Given the description of an element on the screen output the (x, y) to click on. 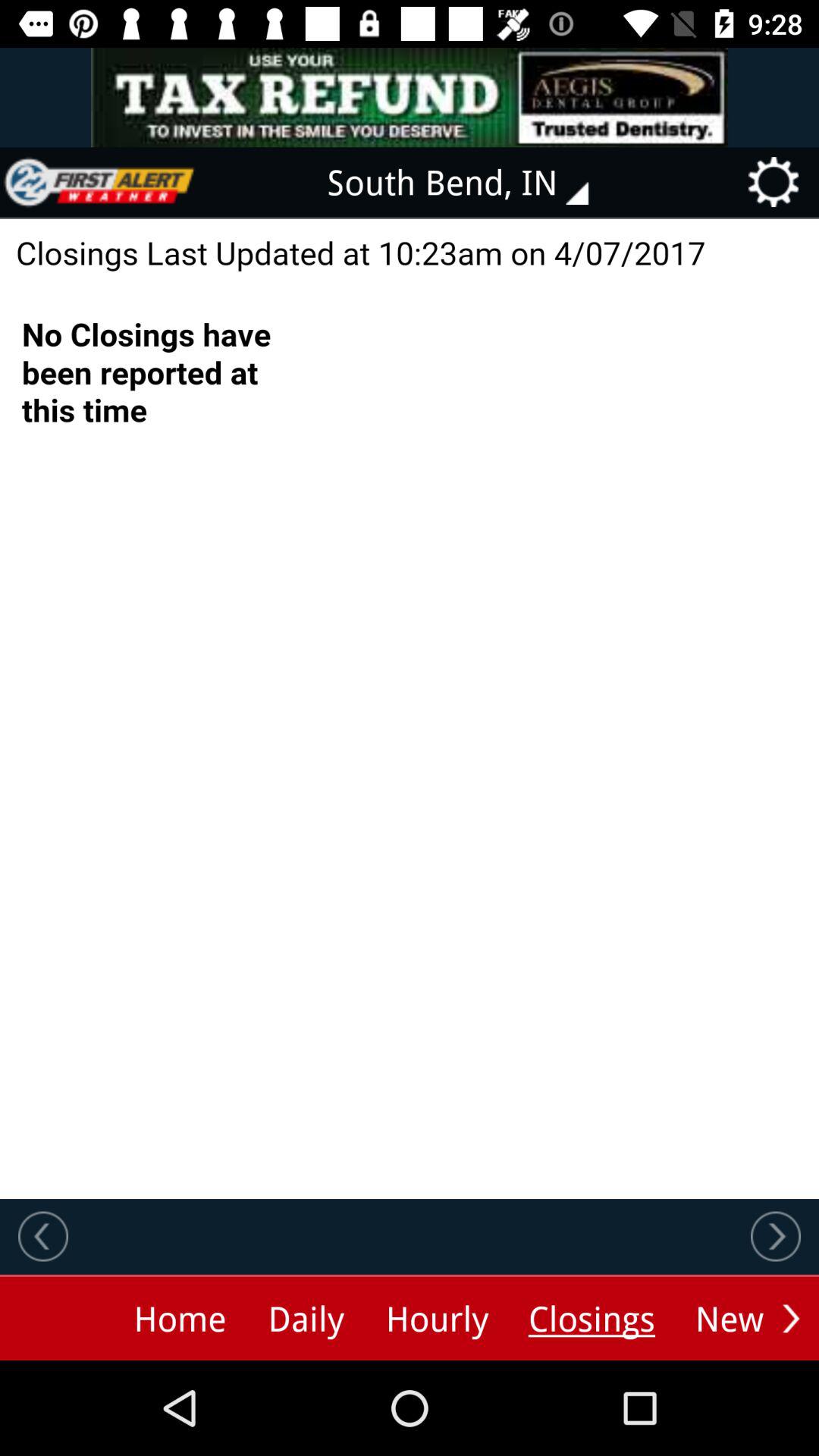
open the icon at the top left corner (99, 182)
